Given the description of an element on the screen output the (x, y) to click on. 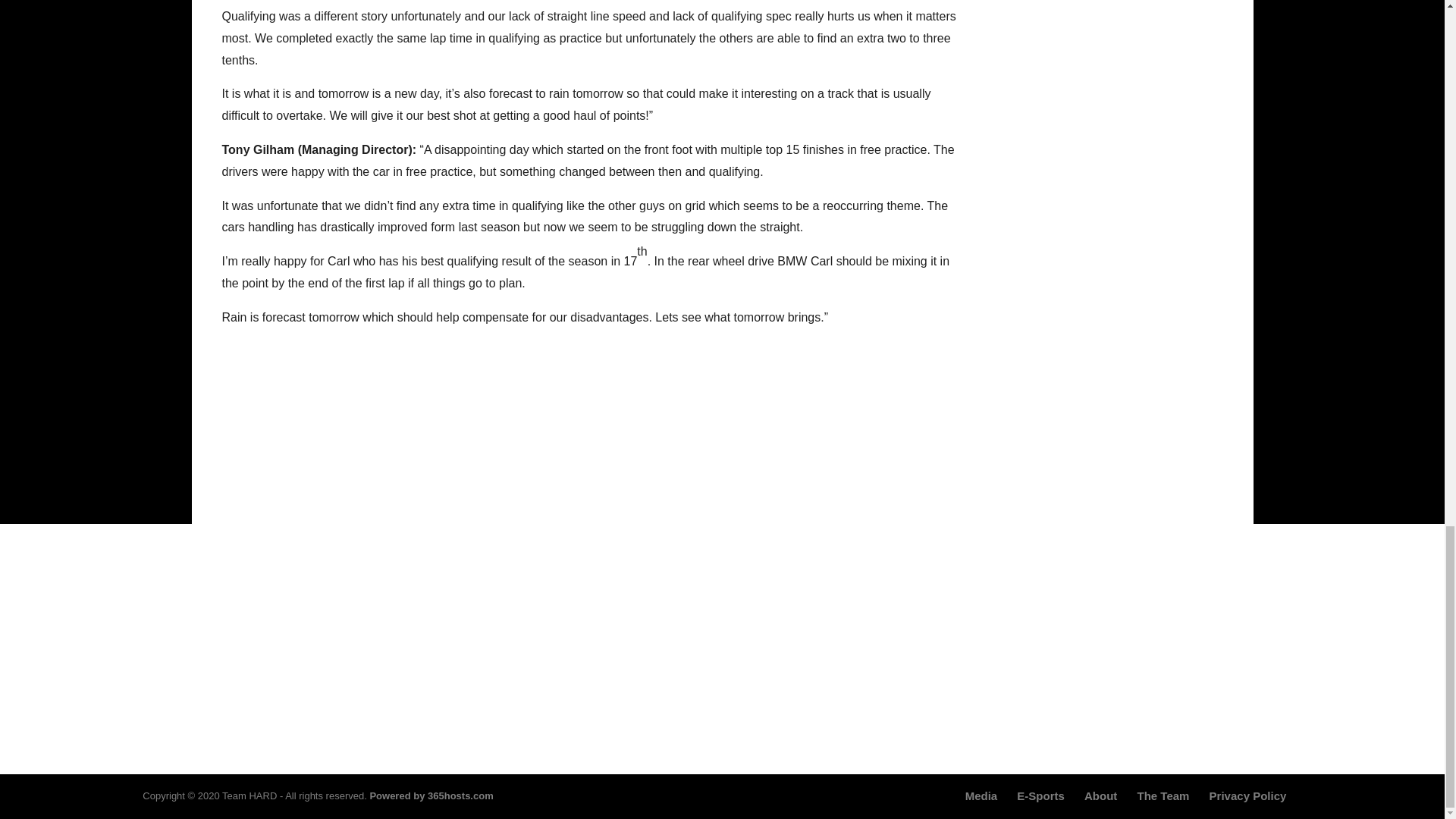
Media (981, 795)
E-Sports (1040, 795)
About (1100, 795)
The Team (1163, 795)
Powered by 365hosts.com (431, 795)
Privacy Policy (1248, 795)
